Given the description of an element on the screen output the (x, y) to click on. 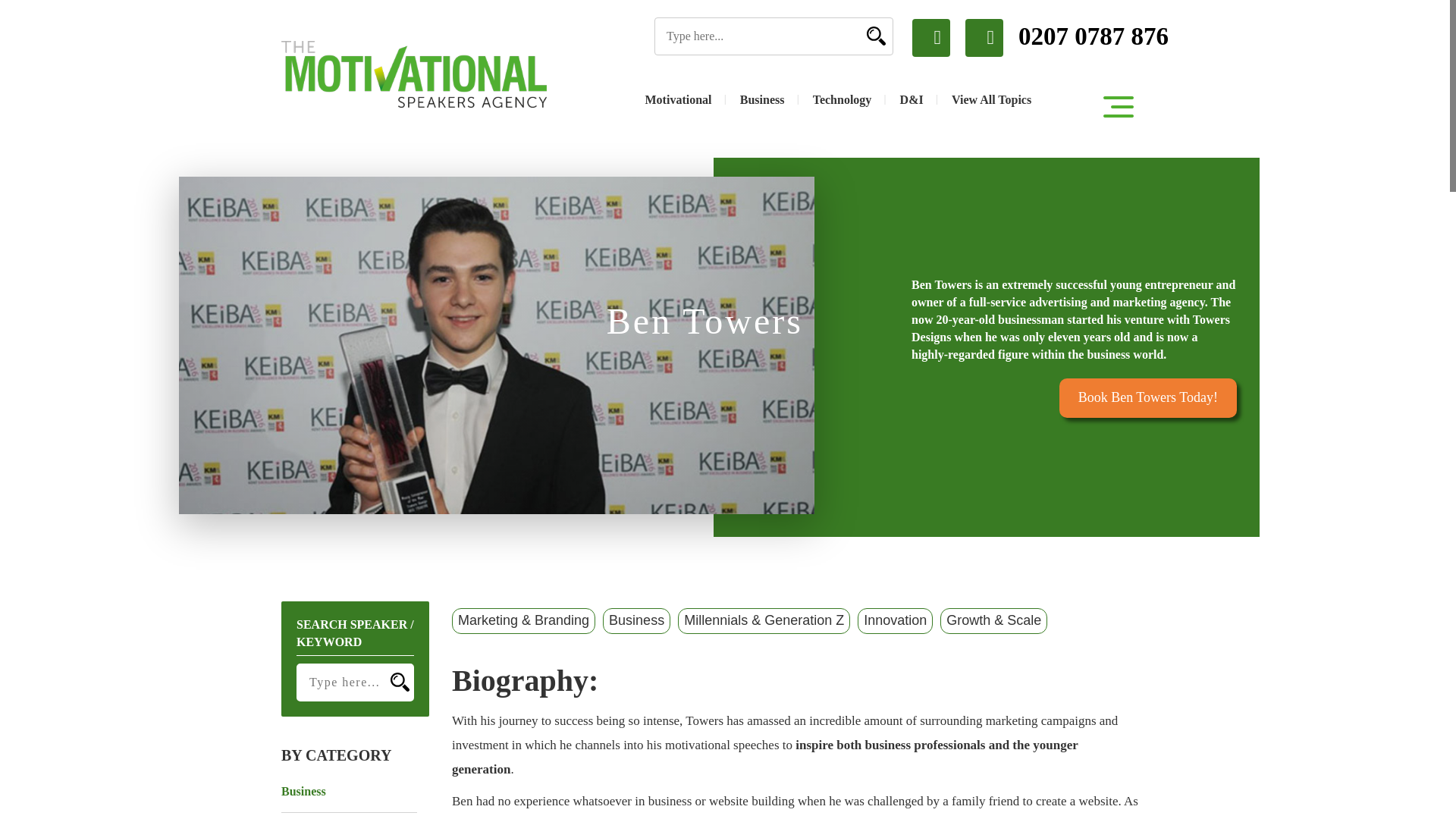
Home (414, 73)
0207 0787 876 (1067, 37)
SEARCH (874, 35)
